Given the description of an element on the screen output the (x, y) to click on. 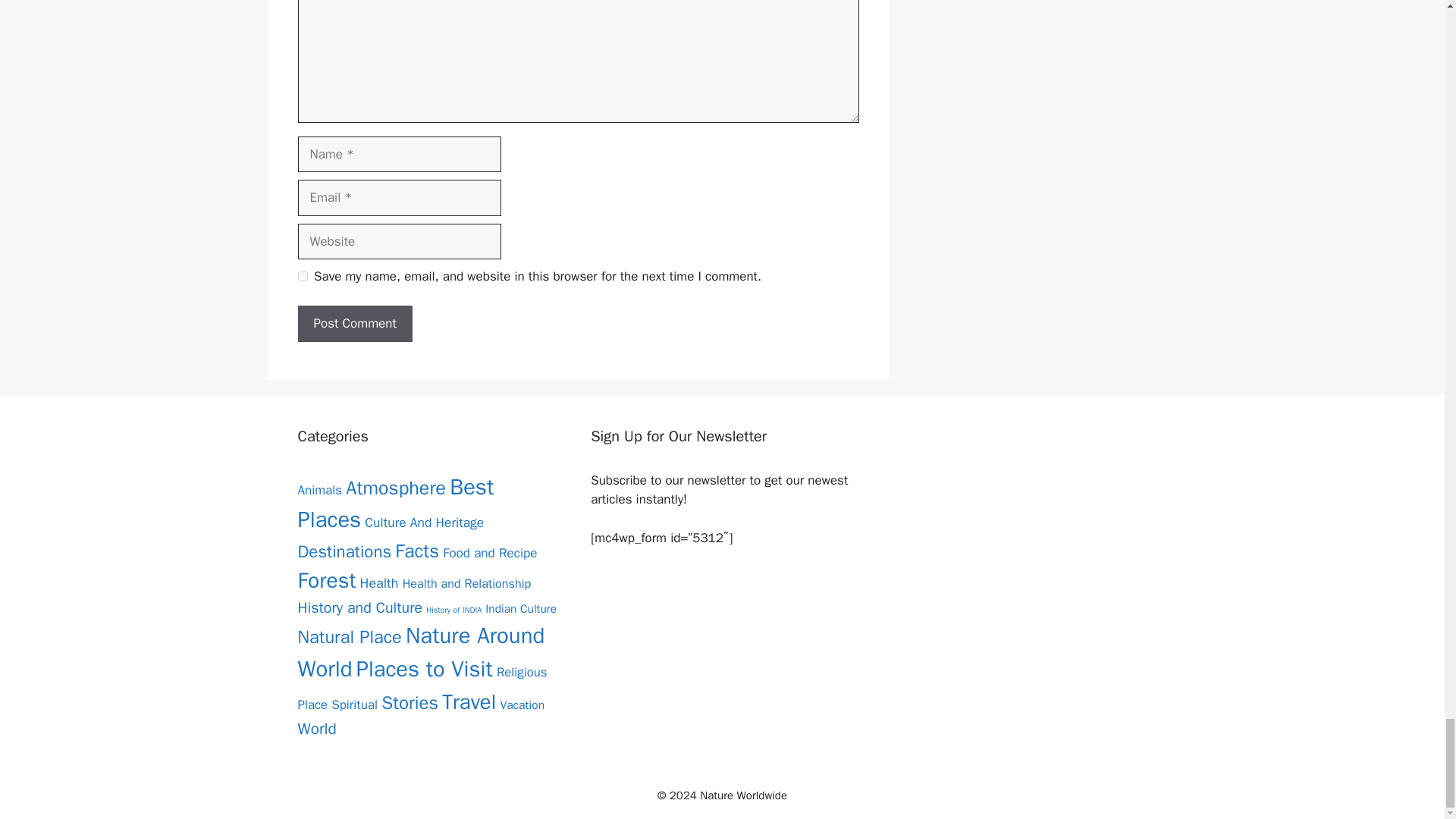
Post Comment (354, 323)
yes (302, 276)
